Given the description of an element on the screen output the (x, y) to click on. 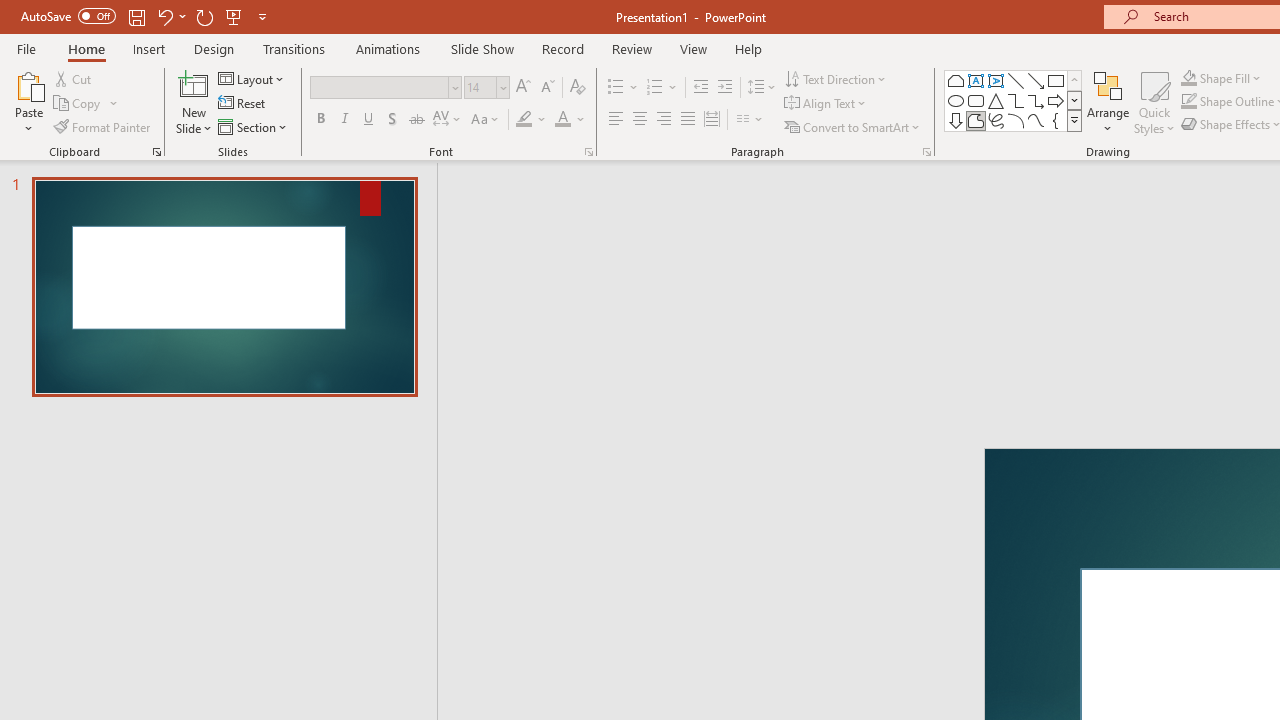
Rectangle: Top Corners Snipped (955, 80)
